Given the description of an element on the screen output the (x, y) to click on. 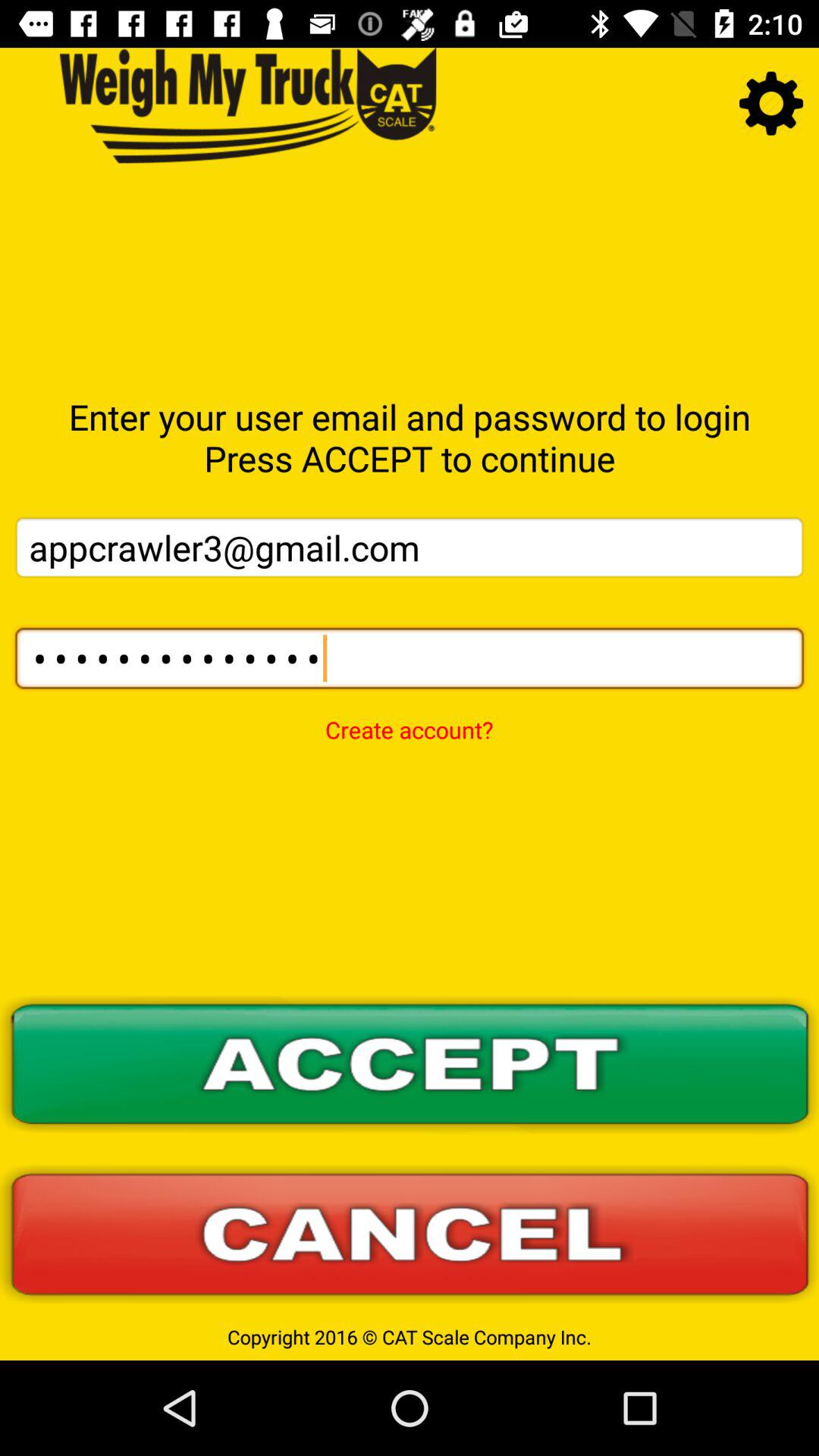
tap the item below appcrawler3@gmail.com icon (409, 657)
